Given the description of an element on the screen output the (x, y) to click on. 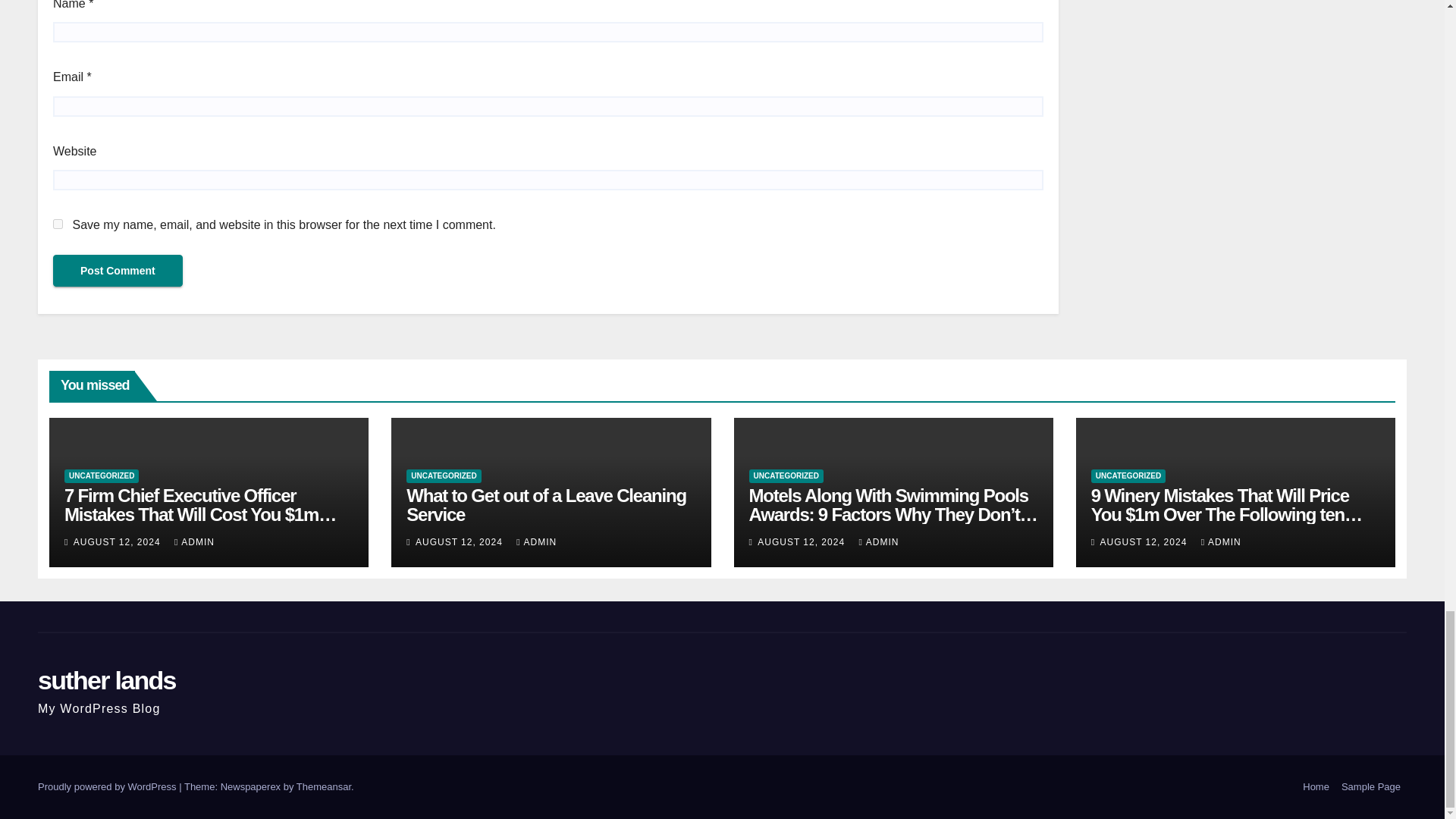
Post Comment (117, 270)
Home (1316, 786)
Permalink to: What to Get out of a Leave Cleaning Service (545, 504)
Post Comment (117, 270)
yes (57, 224)
